Given the description of an element on the screen output the (x, y) to click on. 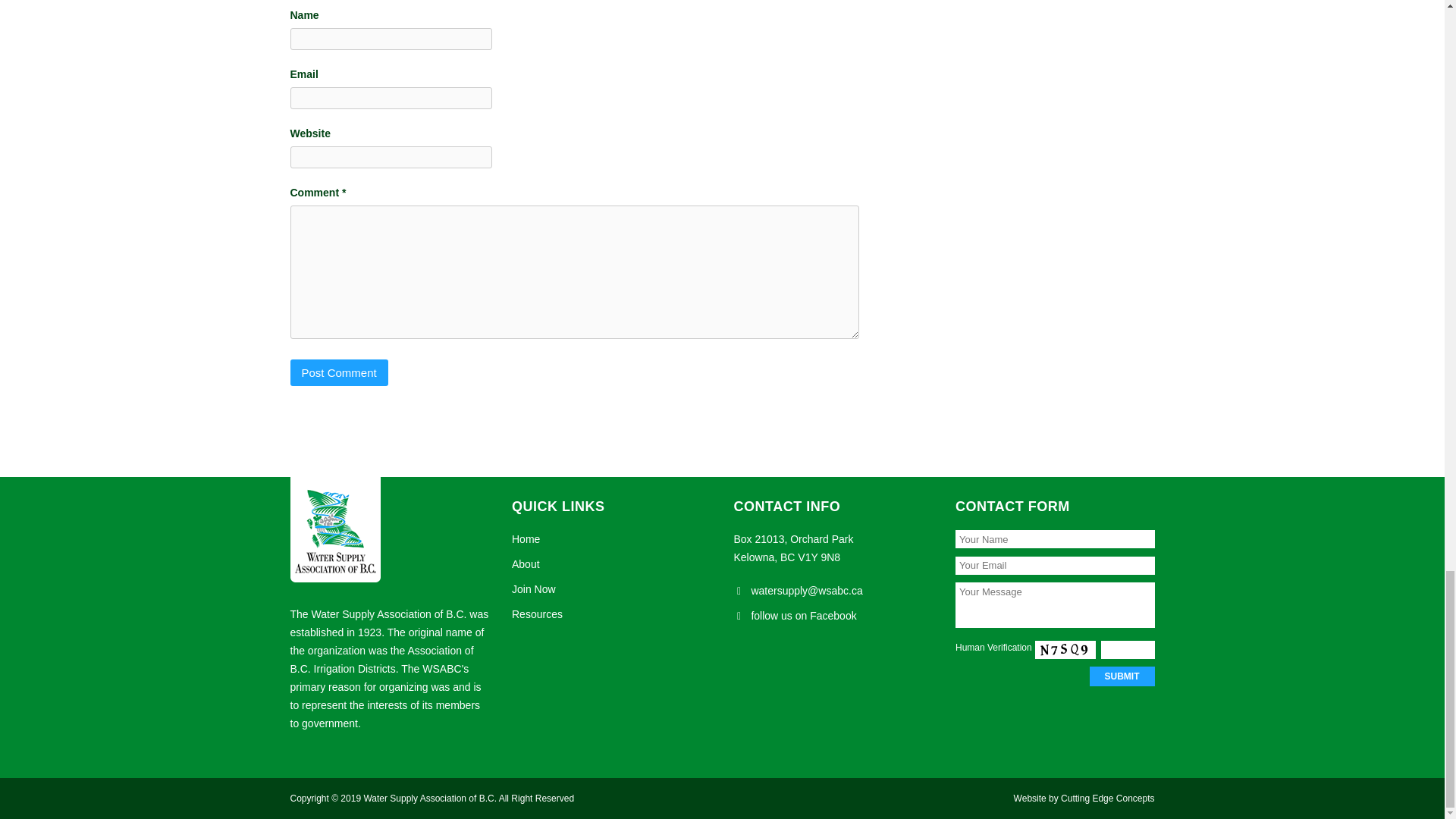
Submit (1121, 676)
Cutting Edge Concepts (1107, 798)
About (526, 563)
Home (526, 539)
Resources (537, 613)
Submit (1121, 676)
follow us on Facebook (803, 615)
Post Comment (338, 372)
Join Now (534, 589)
Post Comment (338, 372)
